Given the description of an element on the screen output the (x, y) to click on. 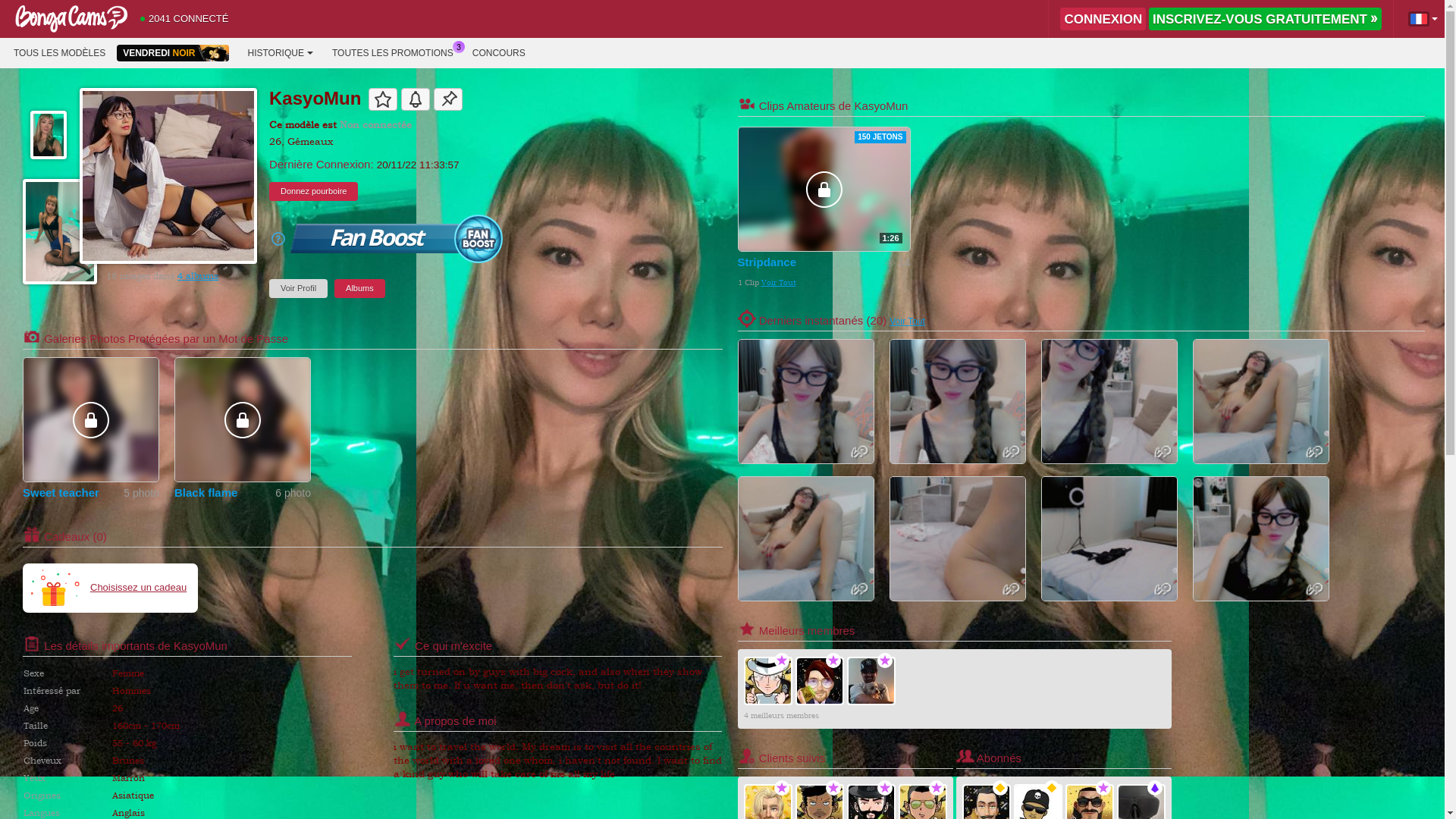
Donnez pourboire Element type: text (313, 191)
Choisissez un cadeau Element type: text (109, 586)
Unlimited Element type: hover (780, 660)
Unlimited Element type: hover (883, 660)
carolDODA Element type: hover (767, 680)
Voir Profil Element type: text (298, 288)
CONNEXION Element type: text (1102, 18)
Unlimited Element type: hover (935, 787)
Gold Element type: hover (999, 787)
Albums Element type: text (359, 288)
INSCRIVEZ-VOUS GRATUITEMENT Element type: text (1264, 18)
CONCOURS Element type: text (498, 52)
Jonde55 Element type: hover (870, 680)
WillsAlterEgo Element type: hover (818, 680)
VENDREDI NOIR Element type: text (172, 52)
TOUTES LES PROMOTIONS Element type: text (392, 52)
Unlimited Element type: hover (780, 787)
Gold Element type: hover (1050, 787)
Voir Tout Element type: text (906, 321)
Fan Boost Element type: text (396, 238)
Unlimited Element type: hover (832, 660)
Unlimited Element type: hover (883, 787)
Unlimited Element type: hover (832, 787)
Sapphire Element type: hover (1153, 787)
Unlimited Element type: hover (1102, 787)
